Given the description of an element on the screen output the (x, y) to click on. 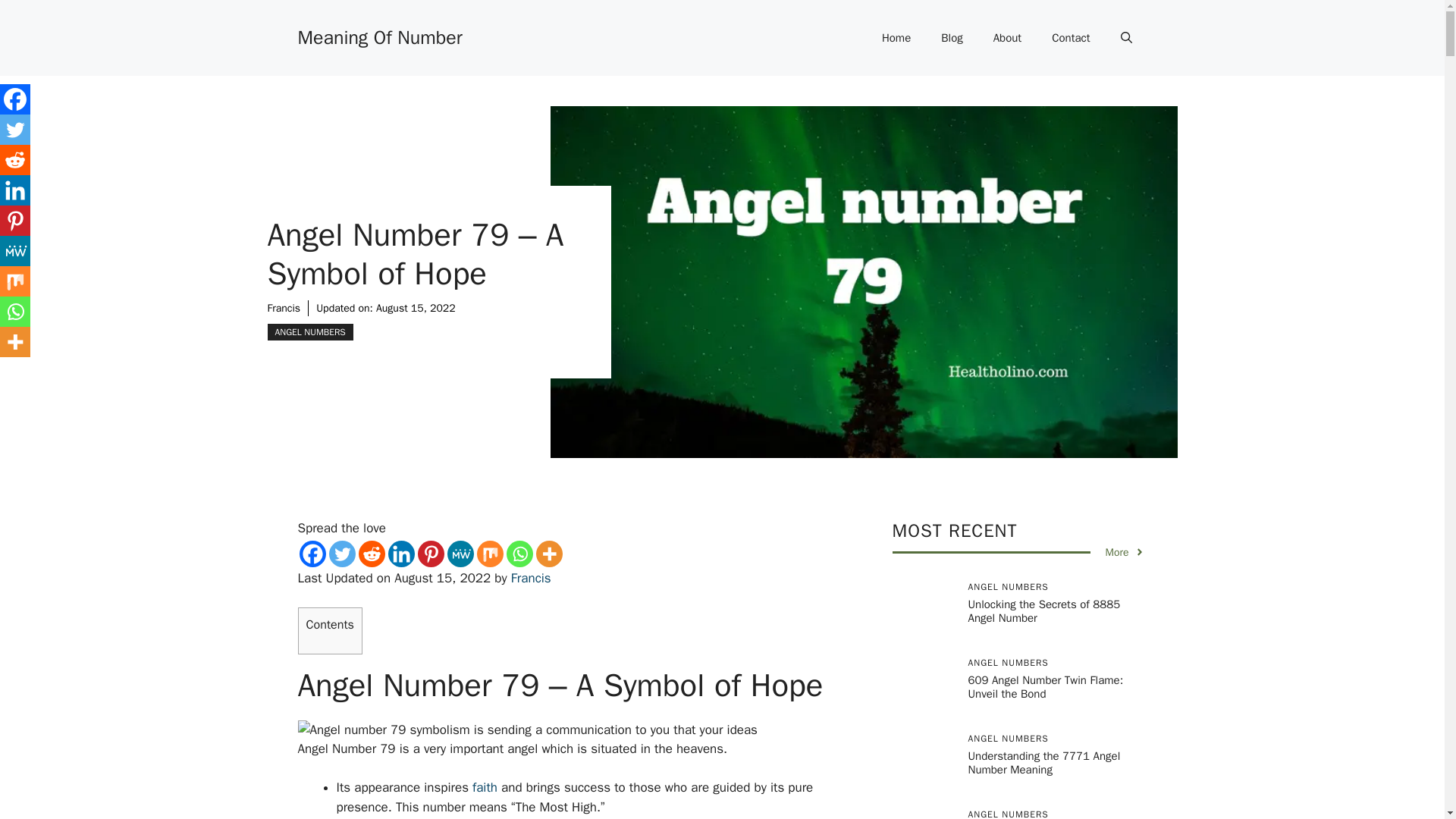
Twitter (15, 129)
Home (896, 37)
More (548, 553)
Contact (1070, 37)
About (1007, 37)
Linkedin (15, 190)
ANGEL NUMBERS (309, 331)
Facebook (15, 99)
Pinterest (430, 553)
Meaning Of Number (379, 37)
